Given the description of an element on the screen output the (x, y) to click on. 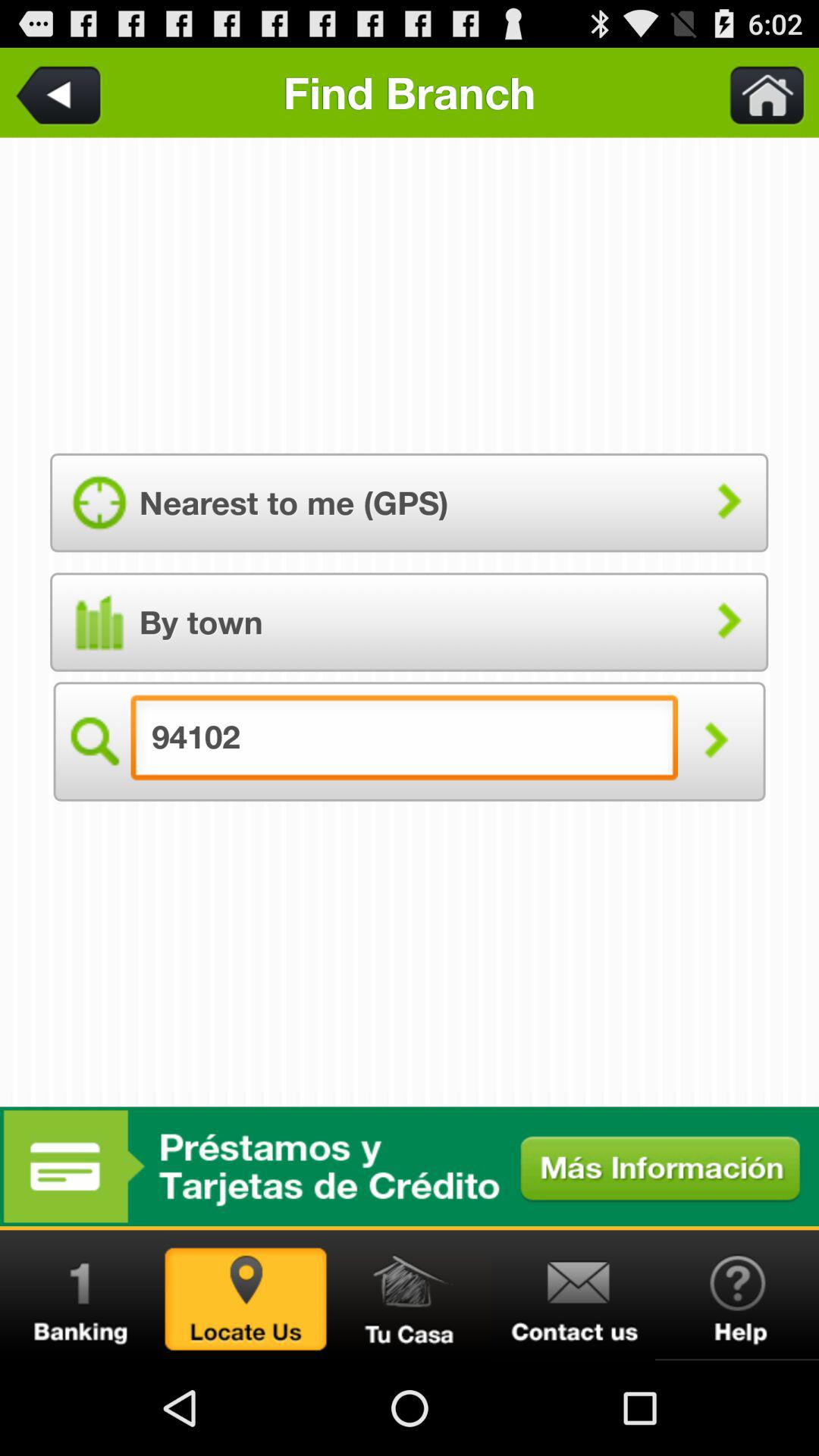
open contact us page (573, 1295)
